Given the description of an element on the screen output the (x, y) to click on. 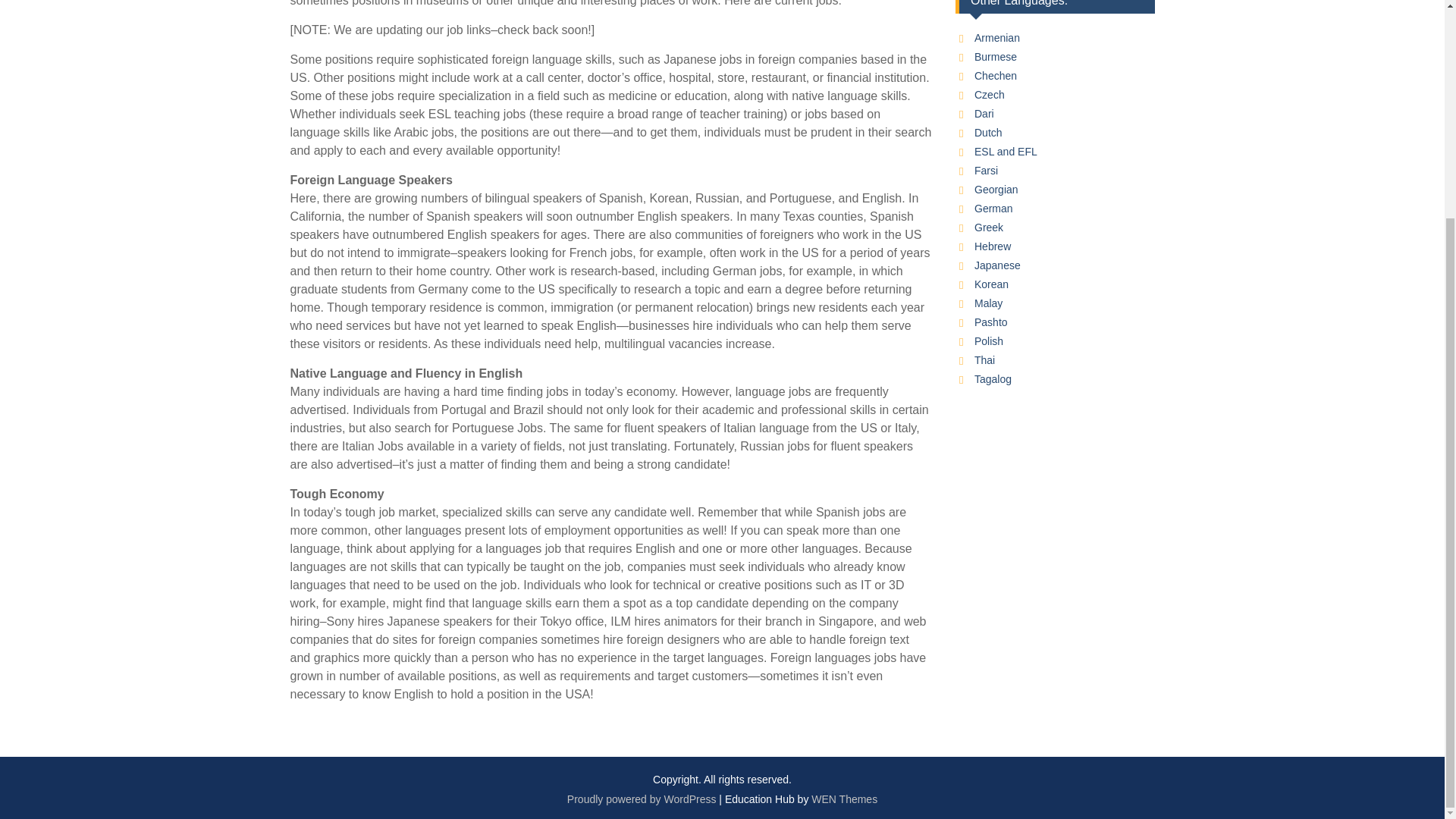
Armenian (997, 37)
WEN Themes (843, 799)
Georgian (995, 189)
Malay (988, 303)
Hebrew (992, 246)
Proudly powered by WordPress (641, 799)
Thai (984, 359)
Burmese (995, 56)
German (993, 208)
Czech (989, 94)
